Given the description of an element on the screen output the (x, y) to click on. 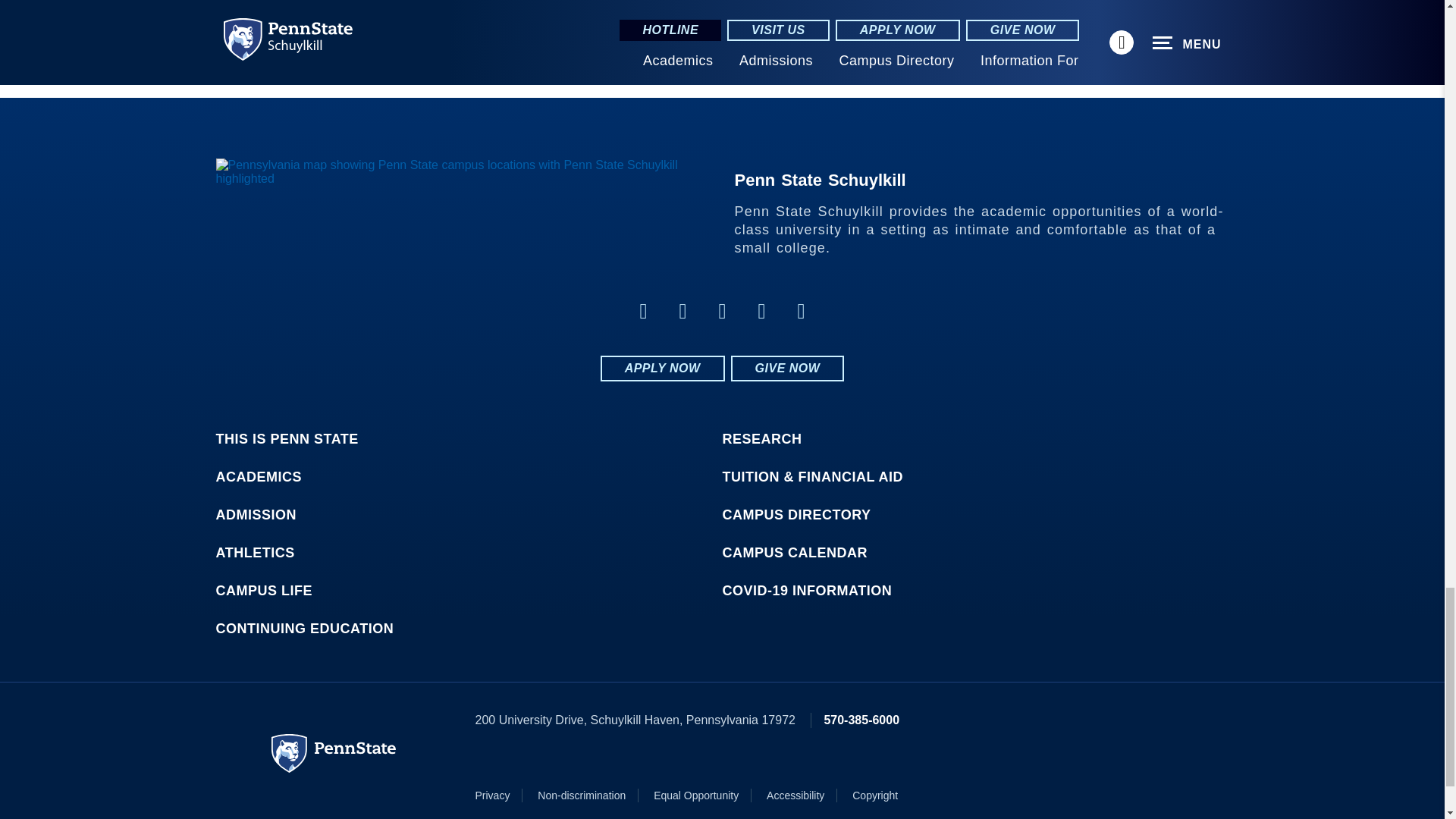
linkedin (682, 310)
instagram (800, 310)
youtube (761, 310)
Penn State University (333, 753)
facebook (642, 310)
twitter (721, 310)
